Given the description of an element on the screen output the (x, y) to click on. 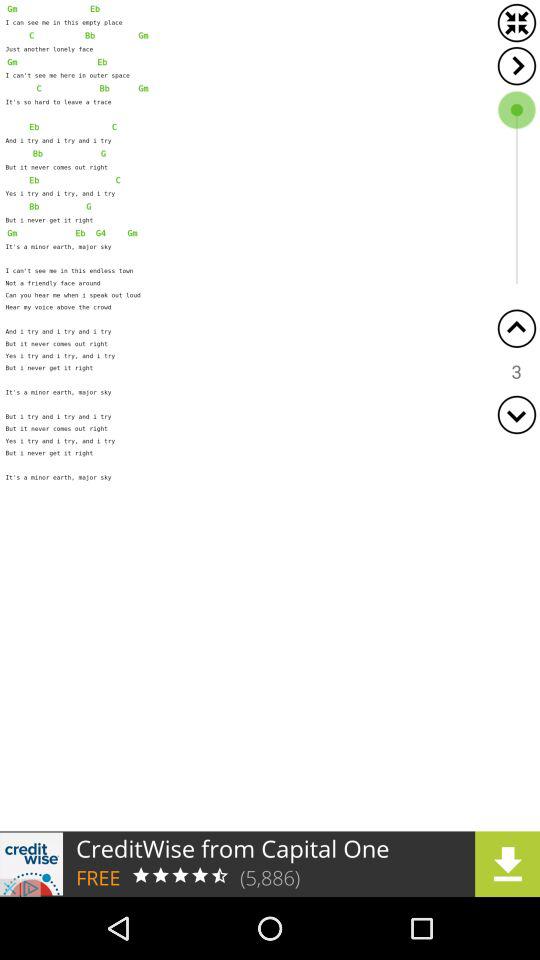
go to bottom (516, 414)
